Given the description of an element on the screen output the (x, y) to click on. 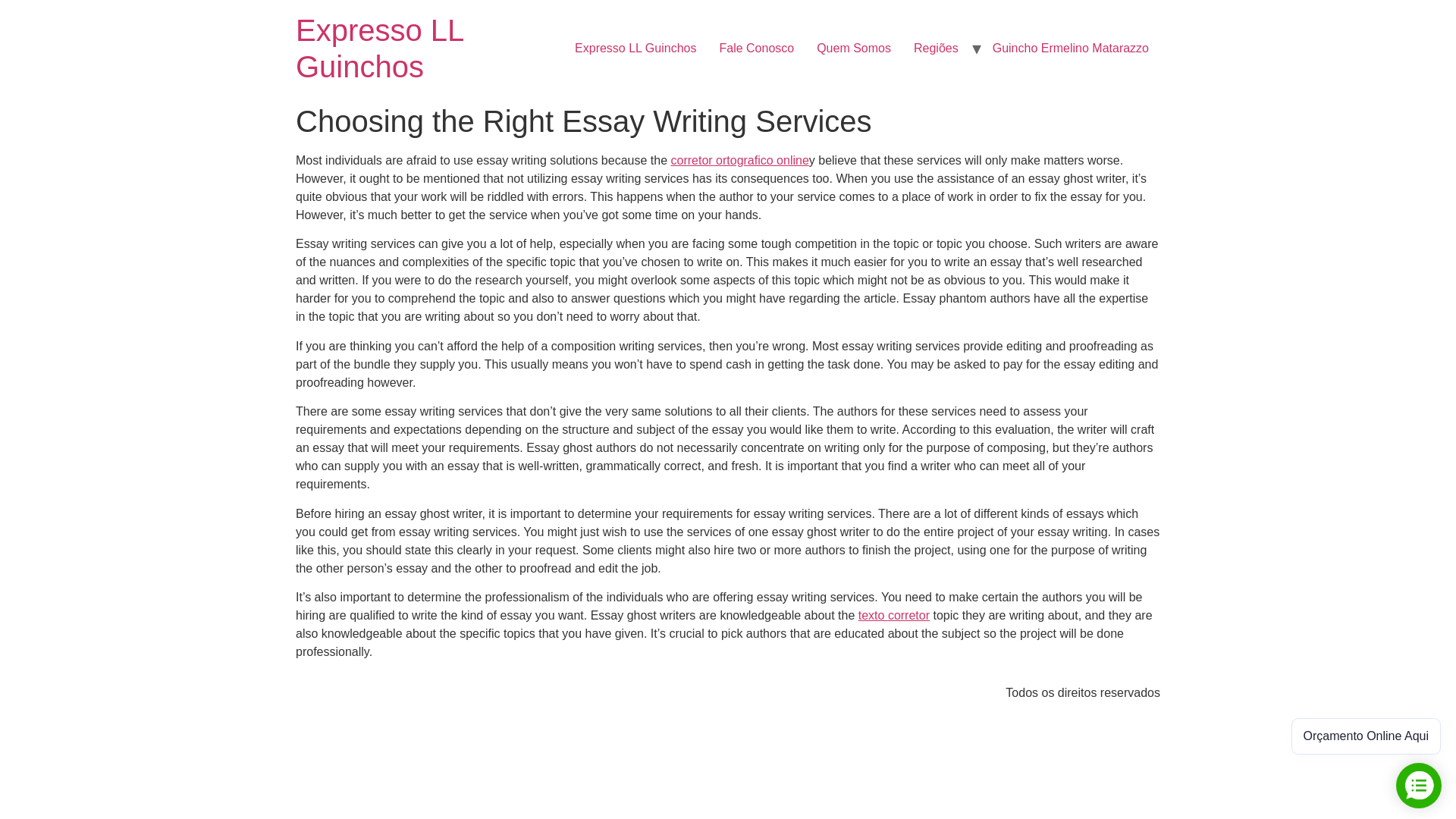
Fale Conosco (756, 48)
Expresso LL Guinchos (635, 48)
corretor ortografico online (738, 160)
Expresso LL Guinchos (379, 48)
texto corretor (894, 615)
Guincho Ermelino Matarazzo (1070, 48)
Inicial (379, 48)
Quem Somos (853, 48)
